Given the description of an element on the screen output the (x, y) to click on. 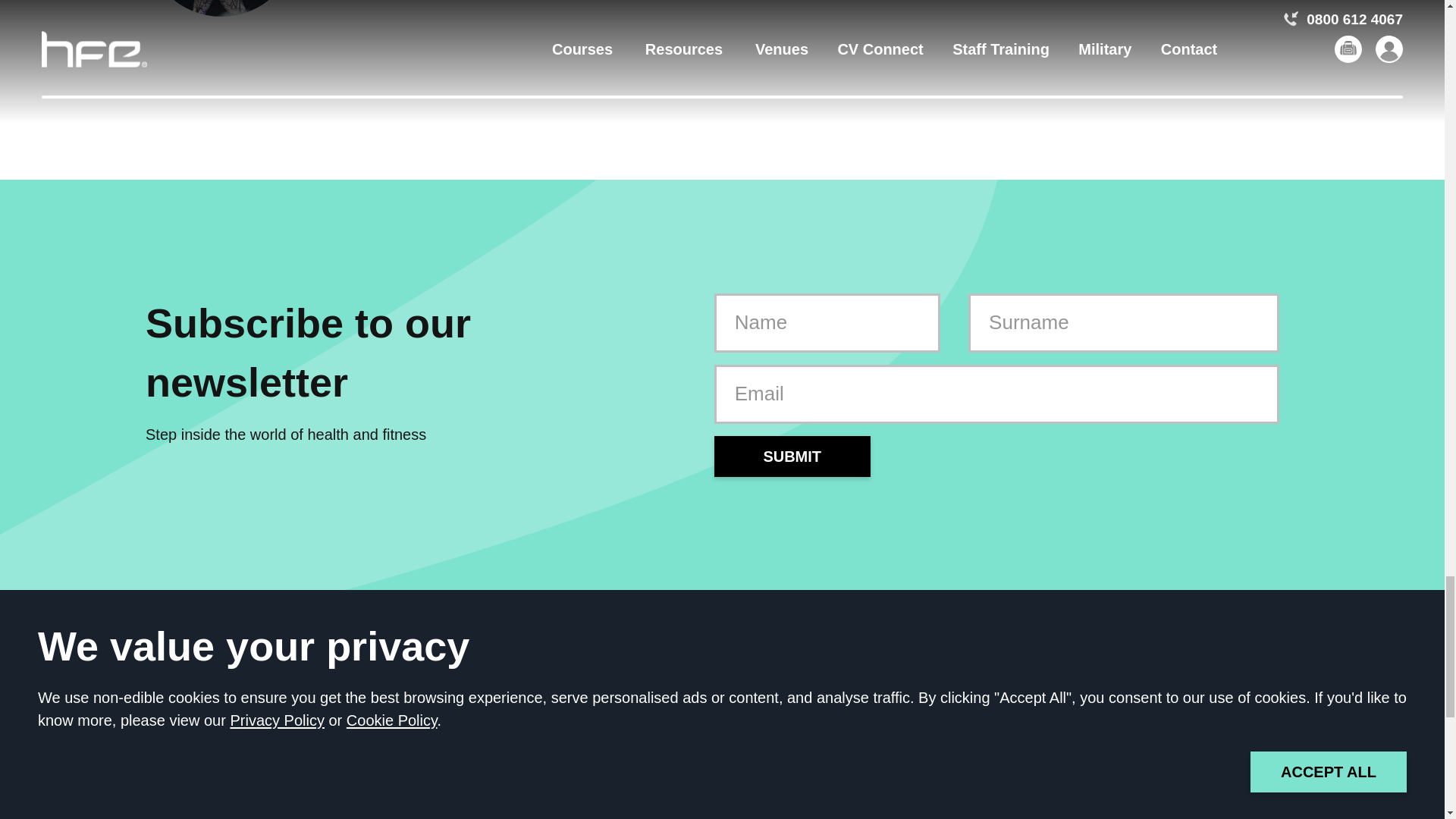
Submit (792, 455)
